Given the description of an element on the screen output the (x, y) to click on. 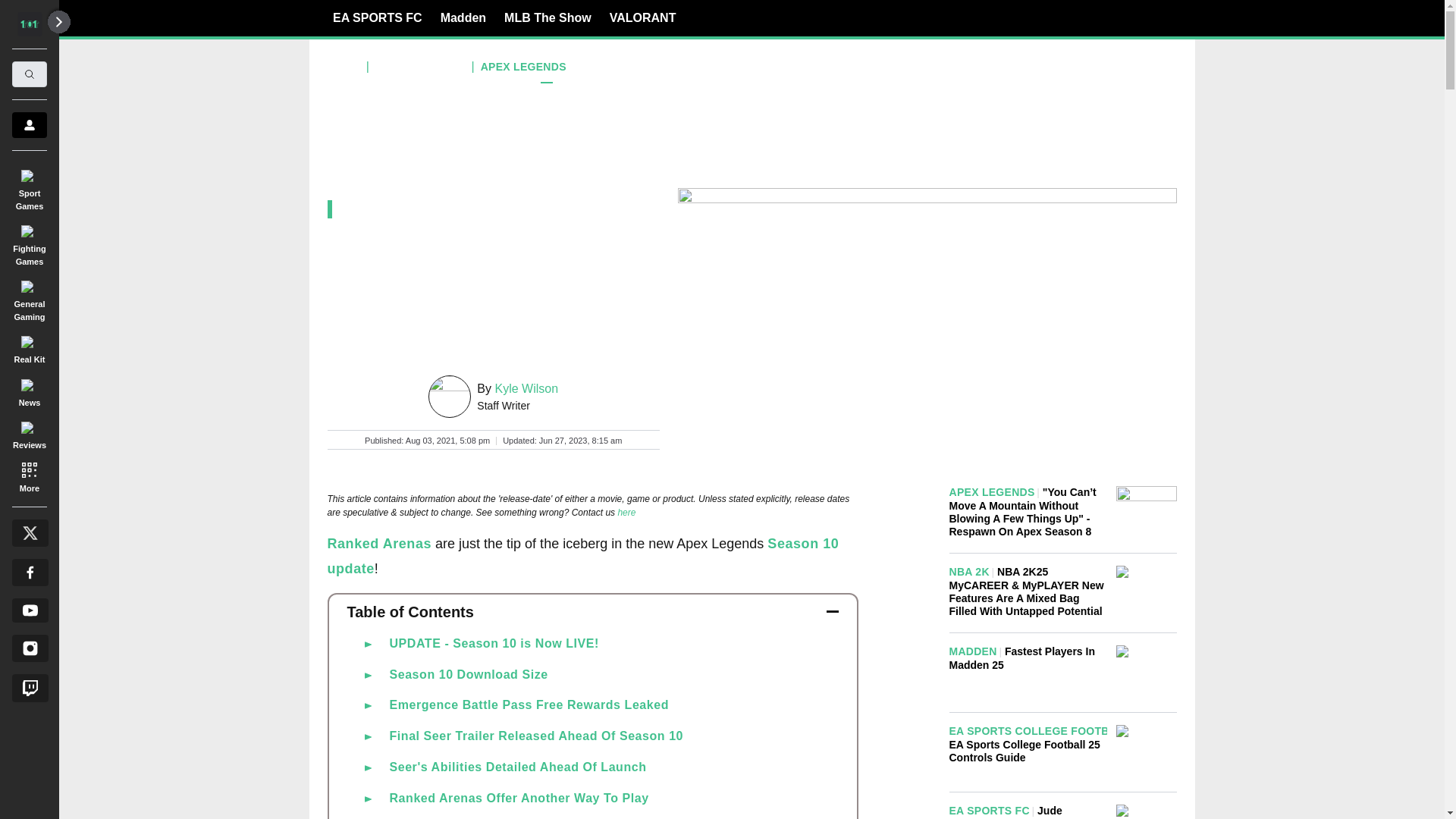
Madden (463, 18)
VALORANT (643, 18)
Real Kit (28, 347)
News (28, 389)
MLB The Show (547, 18)
EA SPORTS FC (377, 18)
Reviews (28, 433)
More (28, 476)
